Given the description of an element on the screen output the (x, y) to click on. 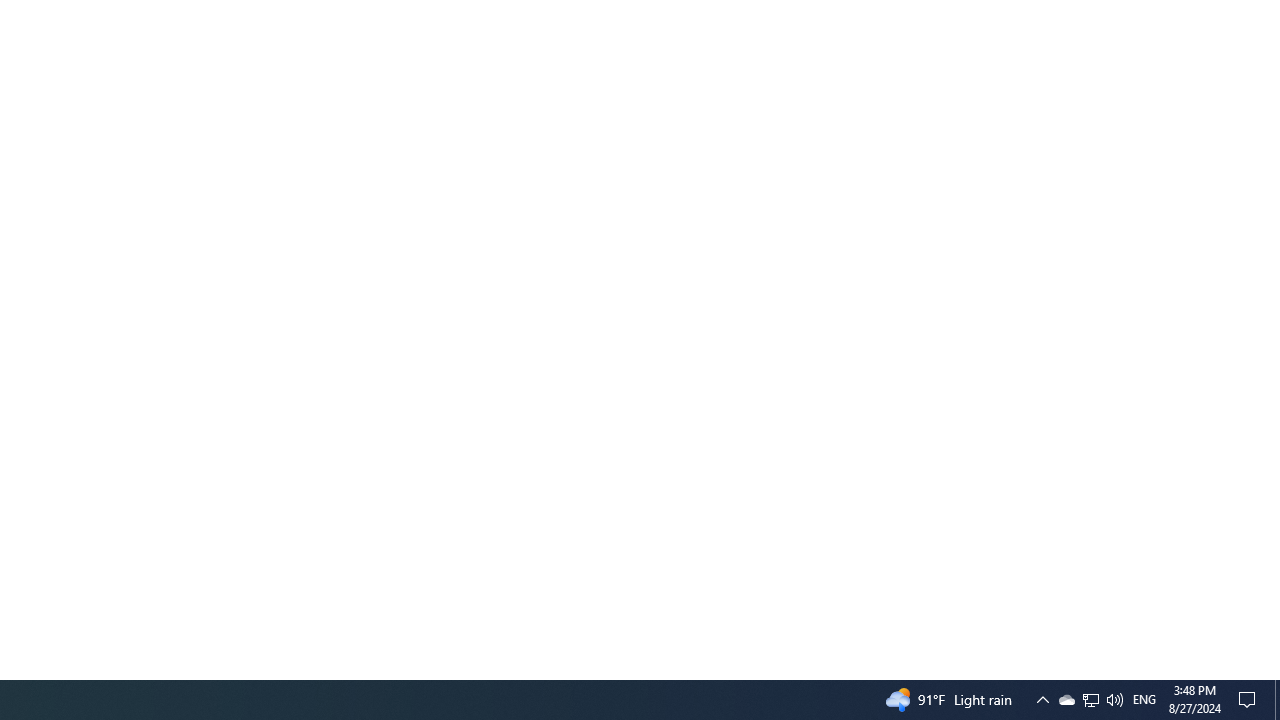
Tray Input Indicator - English (United States) (1144, 699)
Show desktop (1277, 699)
User Promoted Notification Area (1090, 699)
Q2790: 100% (1114, 699)
Notification Chevron (1042, 699)
Action Center, No new notifications (1091, 699)
